Given the description of an element on the screen output the (x, y) to click on. 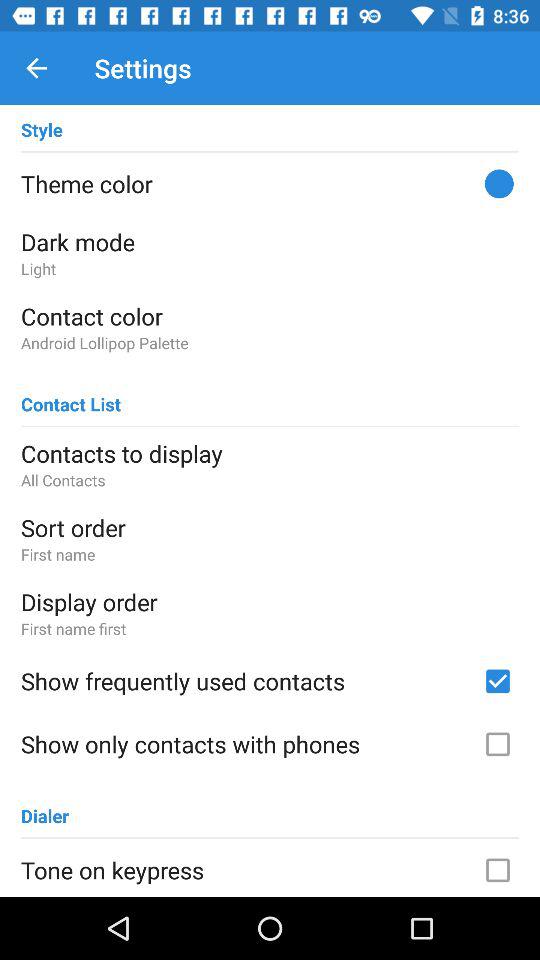
launch the icon above the contact color icon (270, 268)
